Given the description of an element on the screen output the (x, y) to click on. 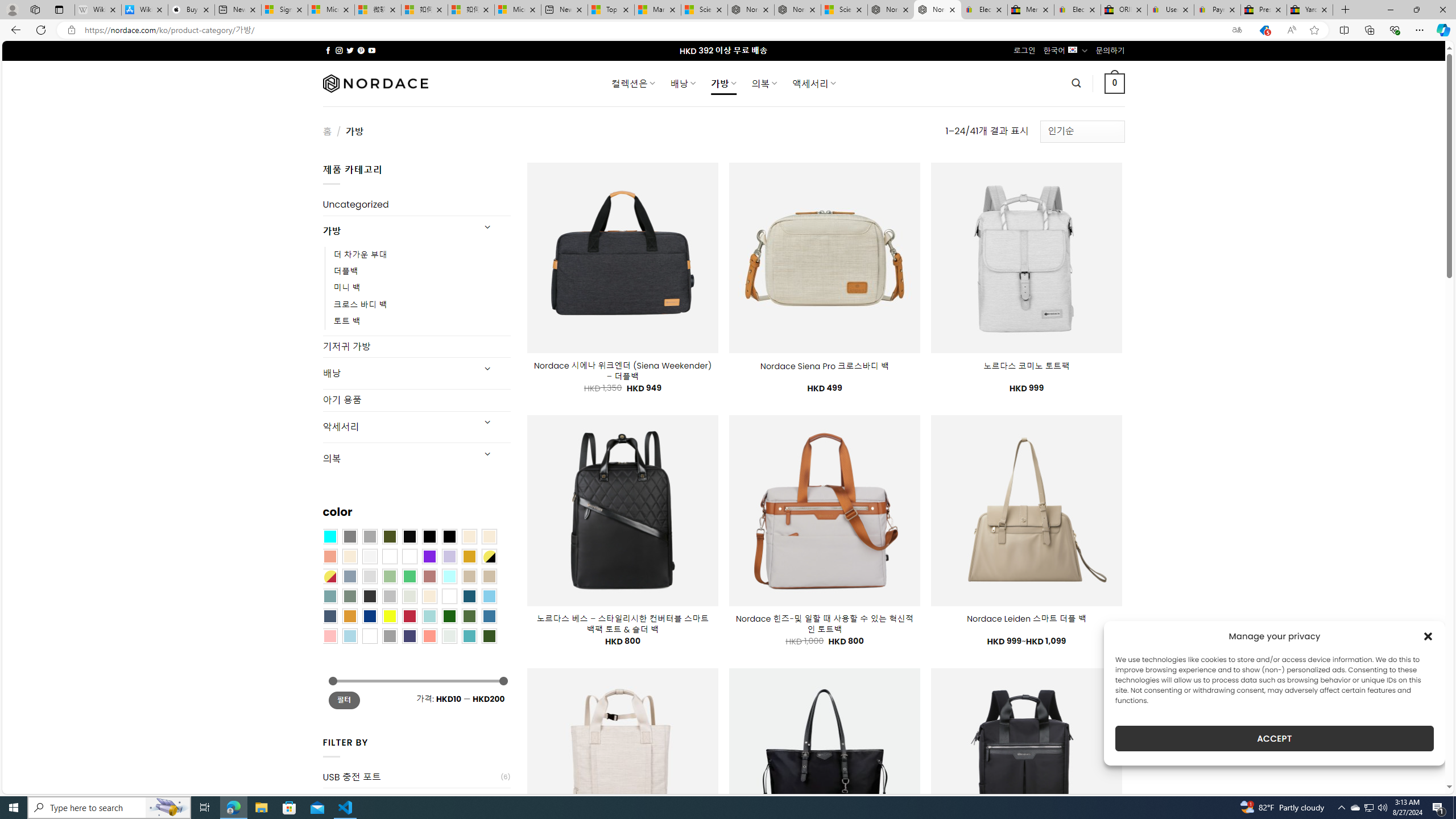
This site has coupons! Shopping in Microsoft Edge, 5 (1263, 29)
Kelp (408, 555)
